Given the description of an element on the screen output the (x, y) to click on. 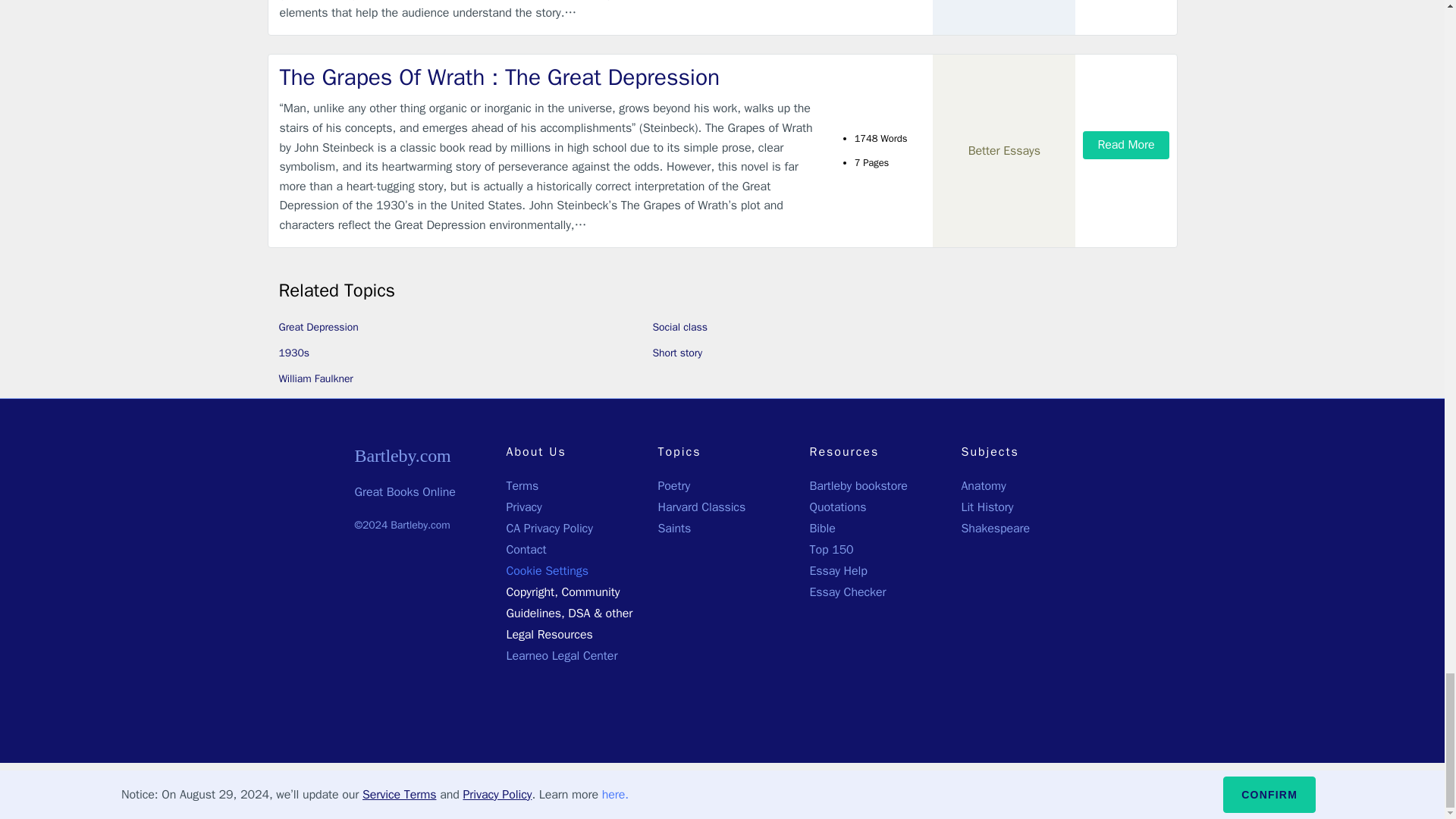
Short story (676, 352)
Great Depression (318, 327)
1930s (293, 352)
William Faulkner (316, 378)
Social class (679, 327)
